Given the description of an element on the screen output the (x, y) to click on. 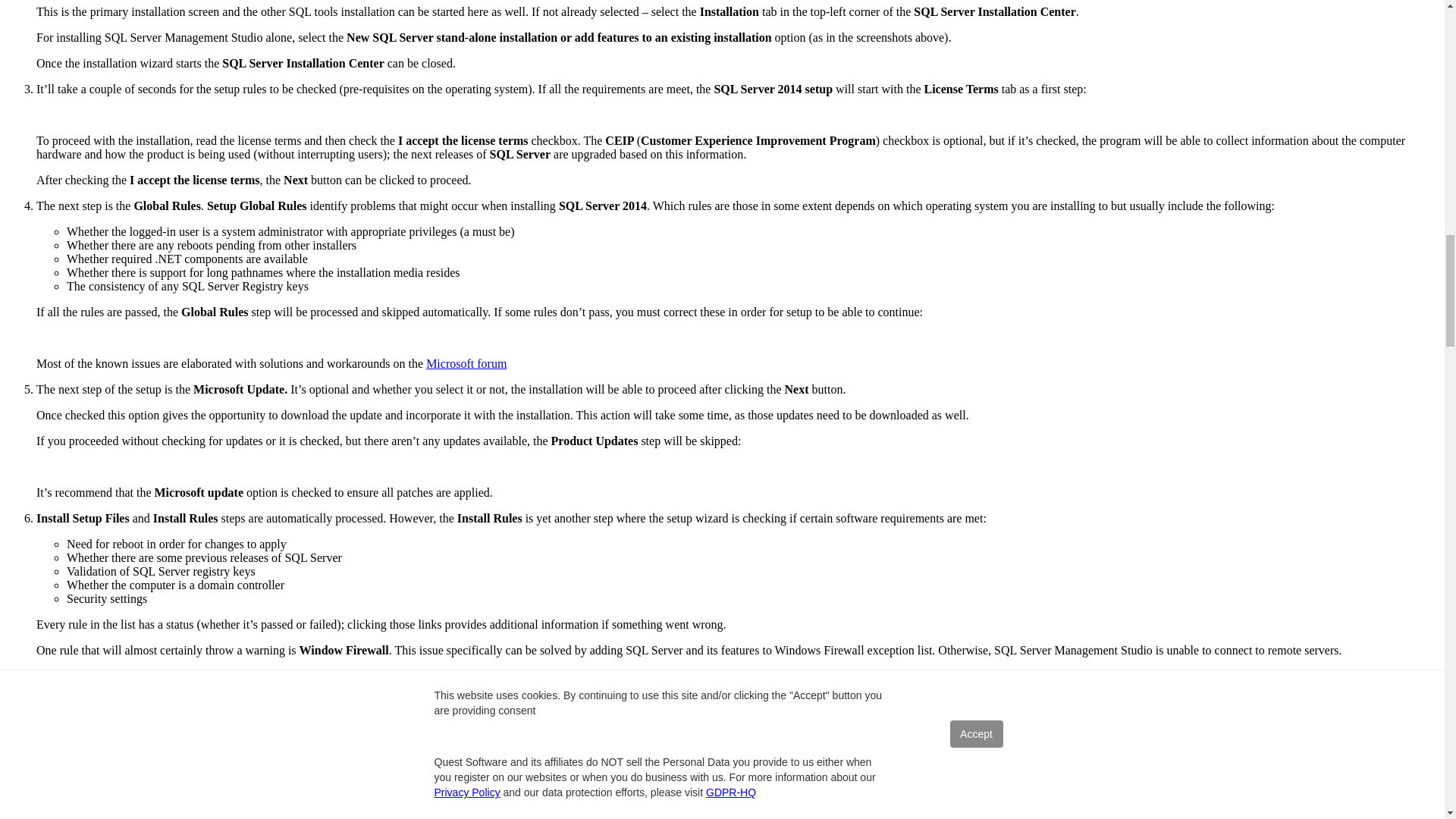
Microsoft SQL Server forum (537, 727)
Microsoft forum (466, 363)
